Given the description of an element on the screen output the (x, y) to click on. 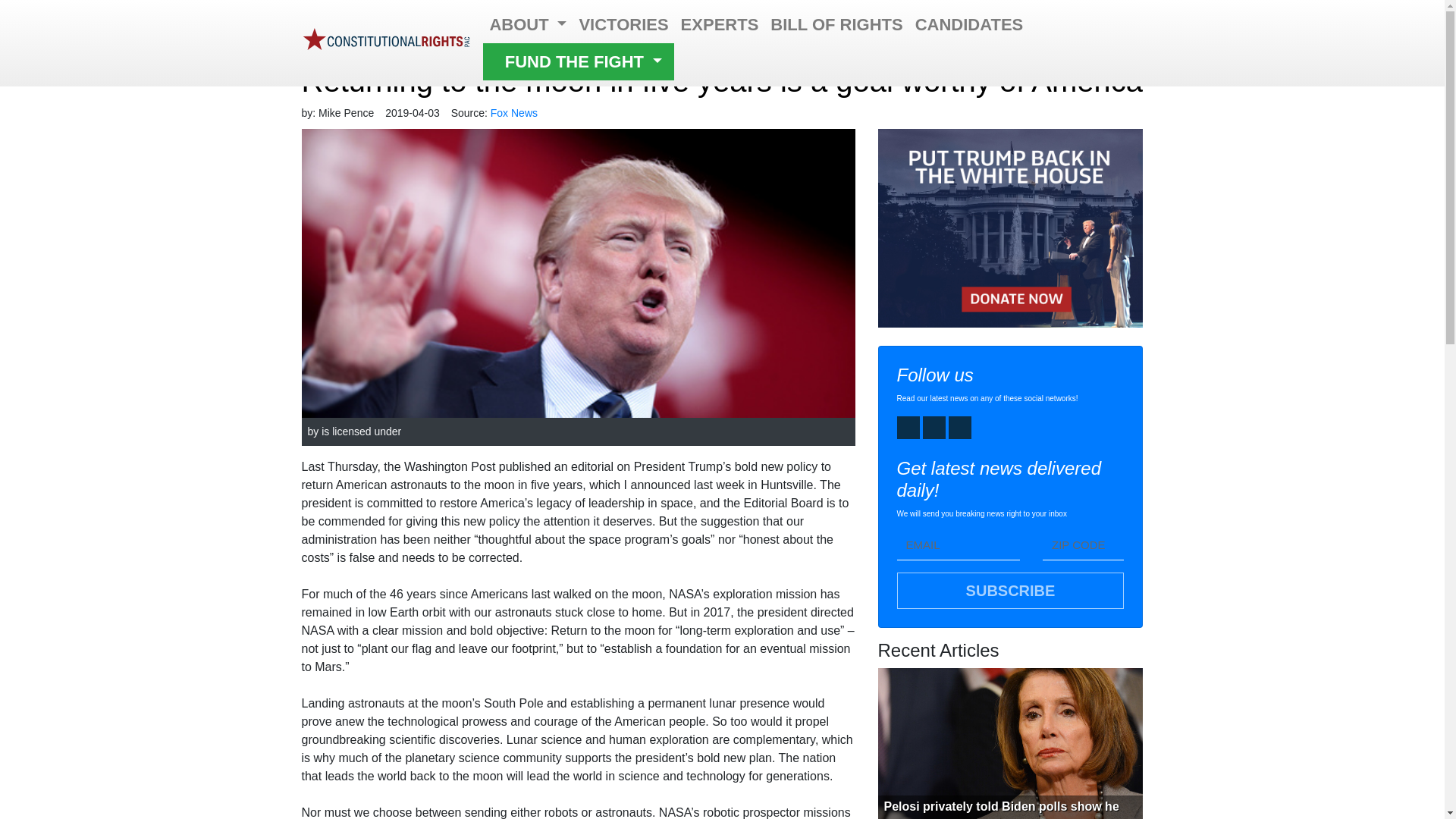
ABOUT (527, 24)
VICTORIES (623, 24)
YouTube (933, 427)
BILL OF RIGHTS (836, 24)
SUBSCRIBE (1010, 590)
Fox News (513, 112)
Constitutional Rights PAC (386, 42)
EXPERTS (720, 24)
CANDIDATES (968, 24)
  FUND THE FIGHT (577, 61)
Facebook (907, 427)
Rumble (960, 427)
